Given the description of an element on the screen output the (x, y) to click on. 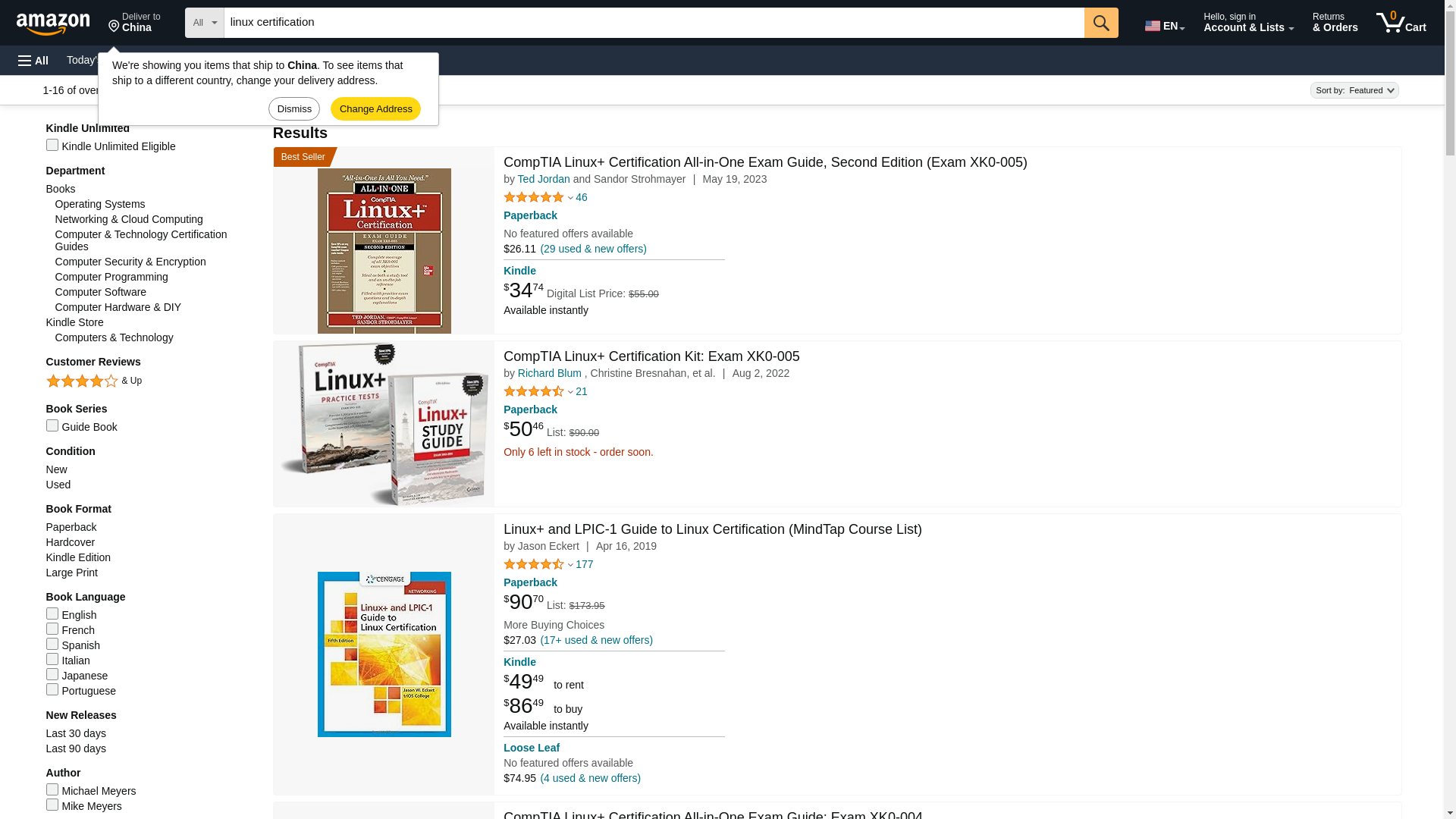
Gift Cards (1401, 22)
linux certification (333, 59)
Customer Service (654, 22)
All (192, 59)
Registry (33, 60)
Today's Deals (272, 59)
Go (99, 59)
EN (1101, 22)
Skip to main content (1163, 22)
Sell (60, 21)
Go (384, 59)
Ted Jordan (1101, 22)
